Given the description of an element on the screen output the (x, y) to click on. 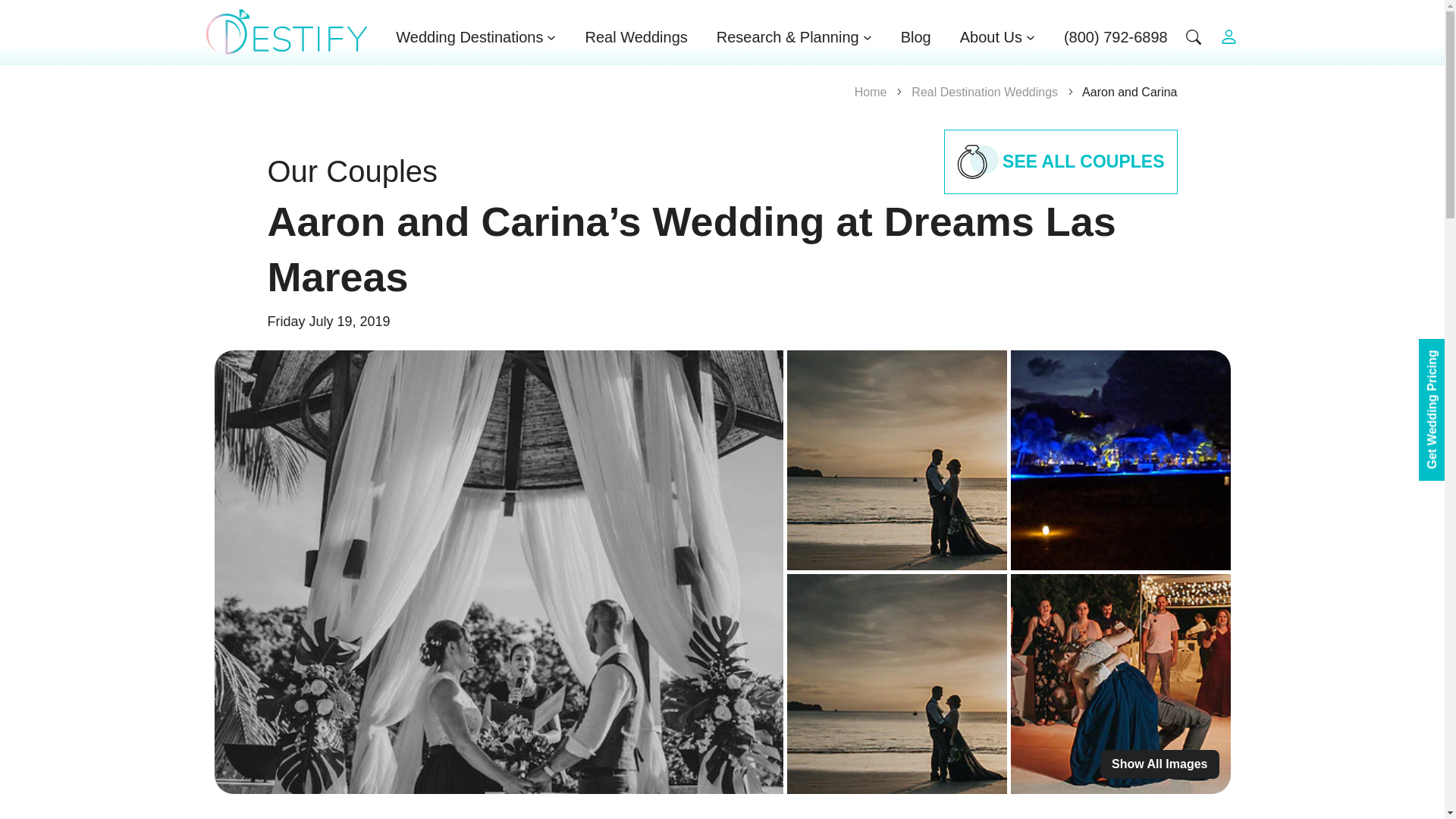
Real Weddings (636, 36)
Blog (916, 36)
Homepage (286, 31)
Wedding Destinations (476, 36)
About Us (997, 36)
